Given the description of an element on the screen output the (x, y) to click on. 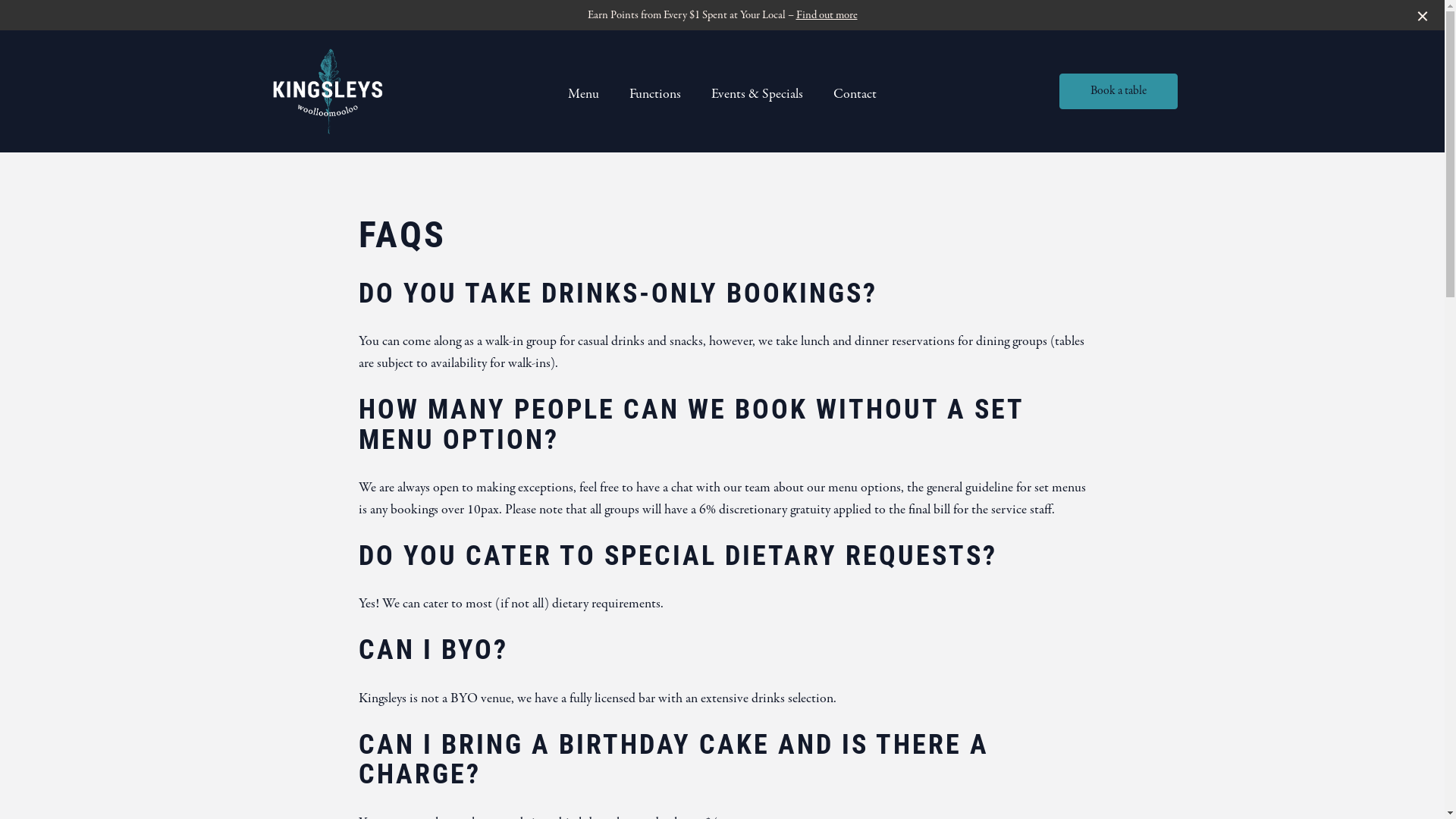
Events & Specials Element type: text (757, 94)
Contact Element type: text (854, 94)
Functions Element type: text (654, 94)
Book a table Element type: text (1117, 91)
Find out more Element type: text (826, 14)
Menu Element type: text (583, 94)
